Given the description of an element on the screen output the (x, y) to click on. 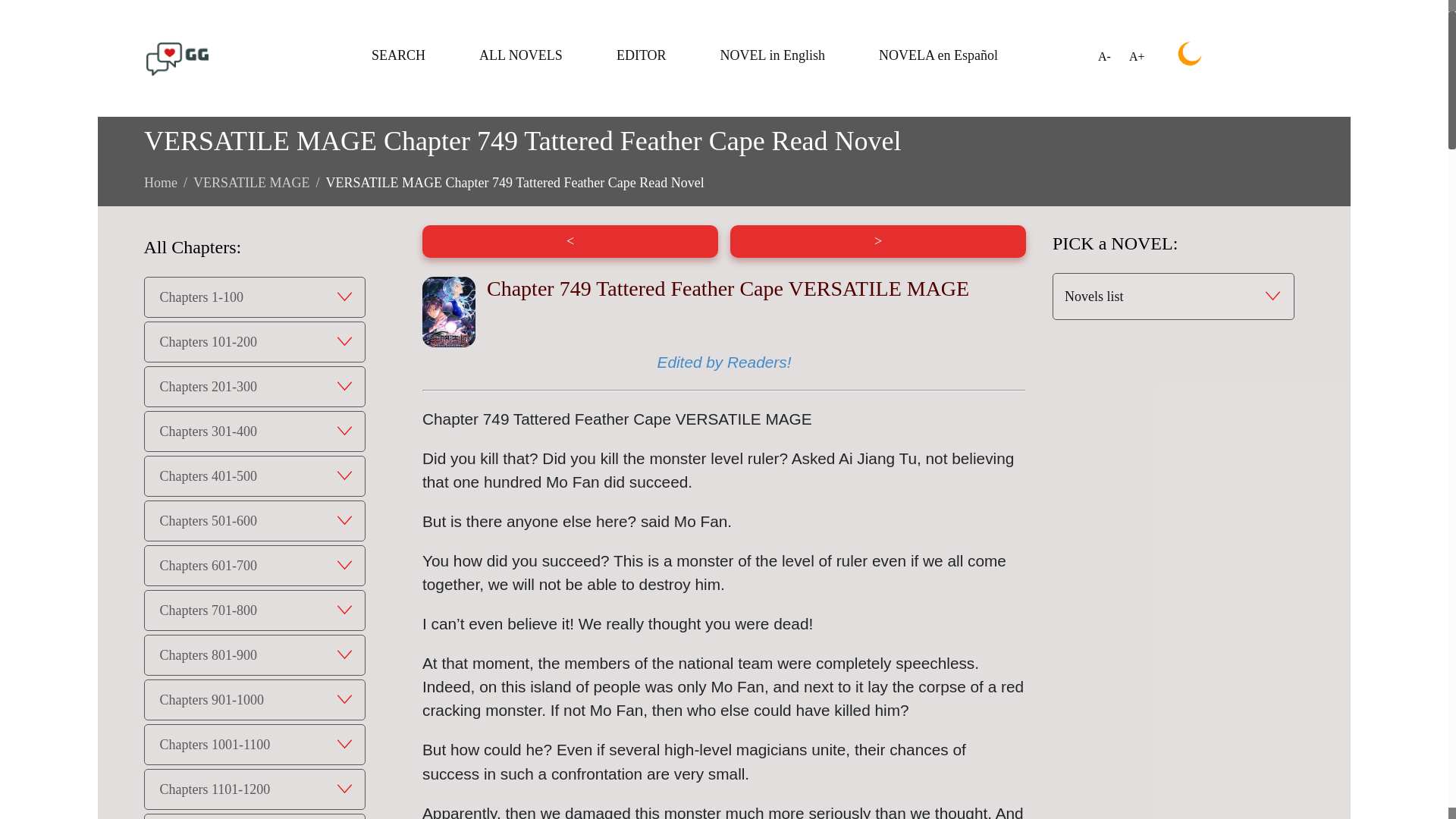
EDITOR (640, 55)
VERSATILE MAGE (251, 182)
ALL NOVELS (520, 55)
SEARCH (398, 55)
Home (160, 182)
NOVEL in English (772, 55)
Day and Night mode (1189, 53)
